Given the description of an element on the screen output the (x, y) to click on. 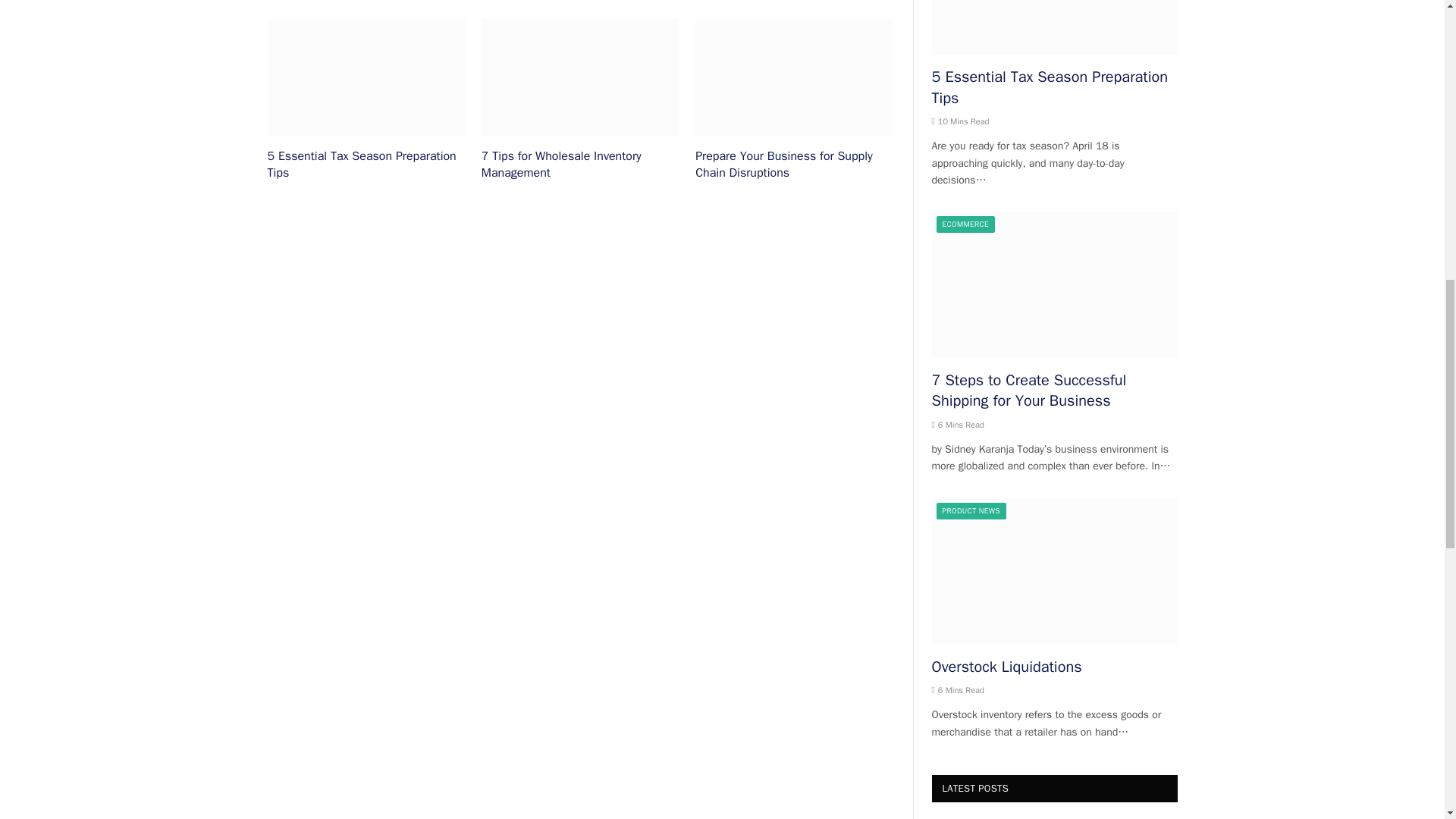
5 Essential Tax Season Preparation Tips (365, 77)
7 Tips for Wholesale Inventory Management (579, 77)
